Given the description of an element on the screen output the (x, y) to click on. 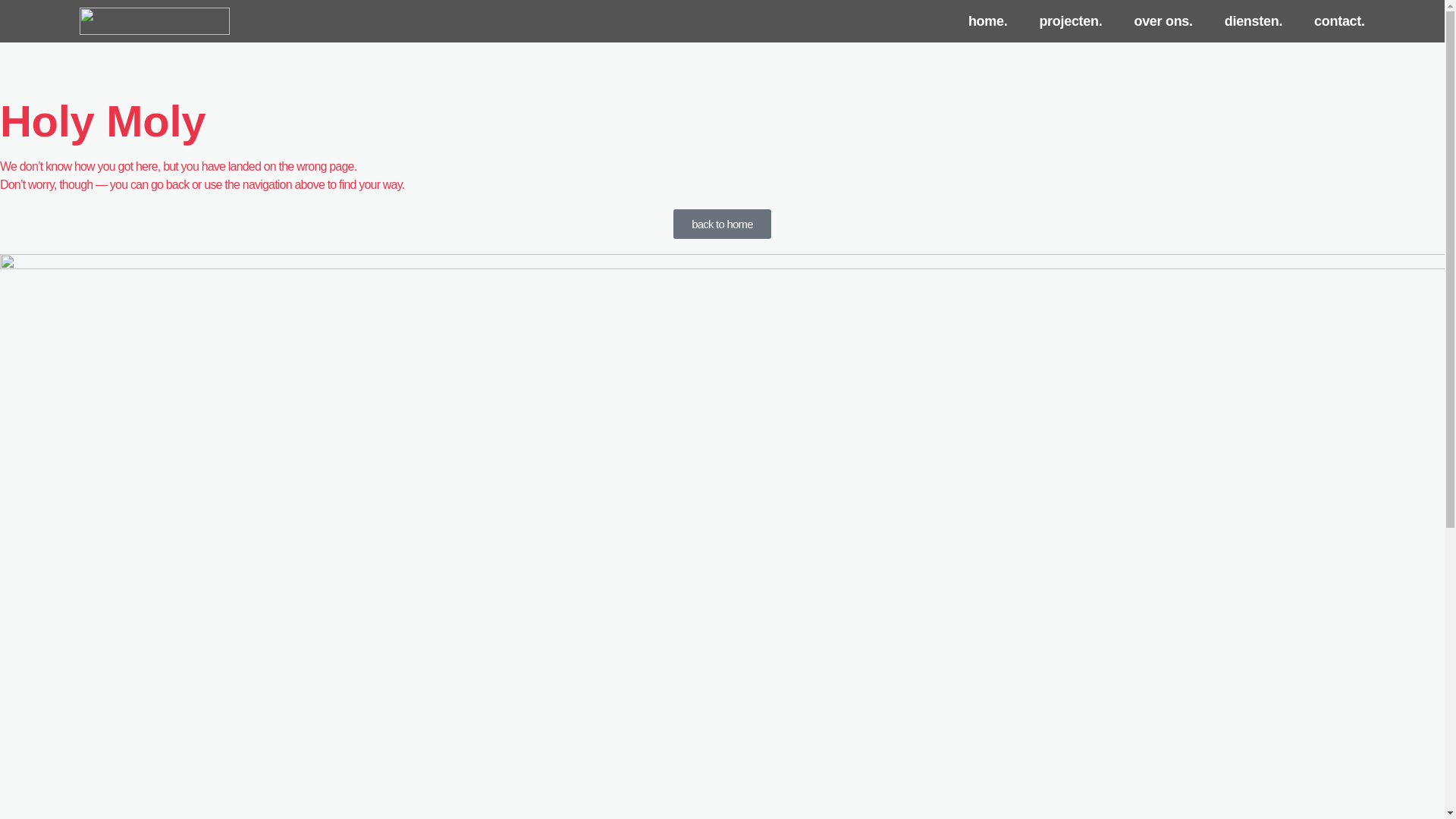
home. Element type: text (987, 21)
back to home Element type: text (721, 223)
contact. Element type: text (1339, 21)
projecten. Element type: text (1069, 21)
diensten. Element type: text (1253, 21)
over ons. Element type: text (1162, 21)
